Given the description of an element on the screen output the (x, y) to click on. 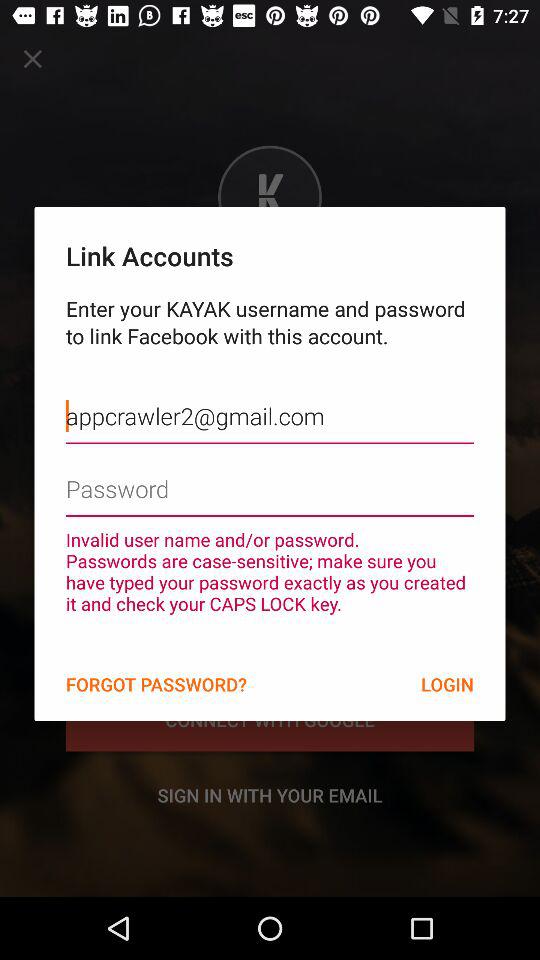
scroll until the login icon (447, 683)
